Given the description of an element on the screen output the (x, y) to click on. 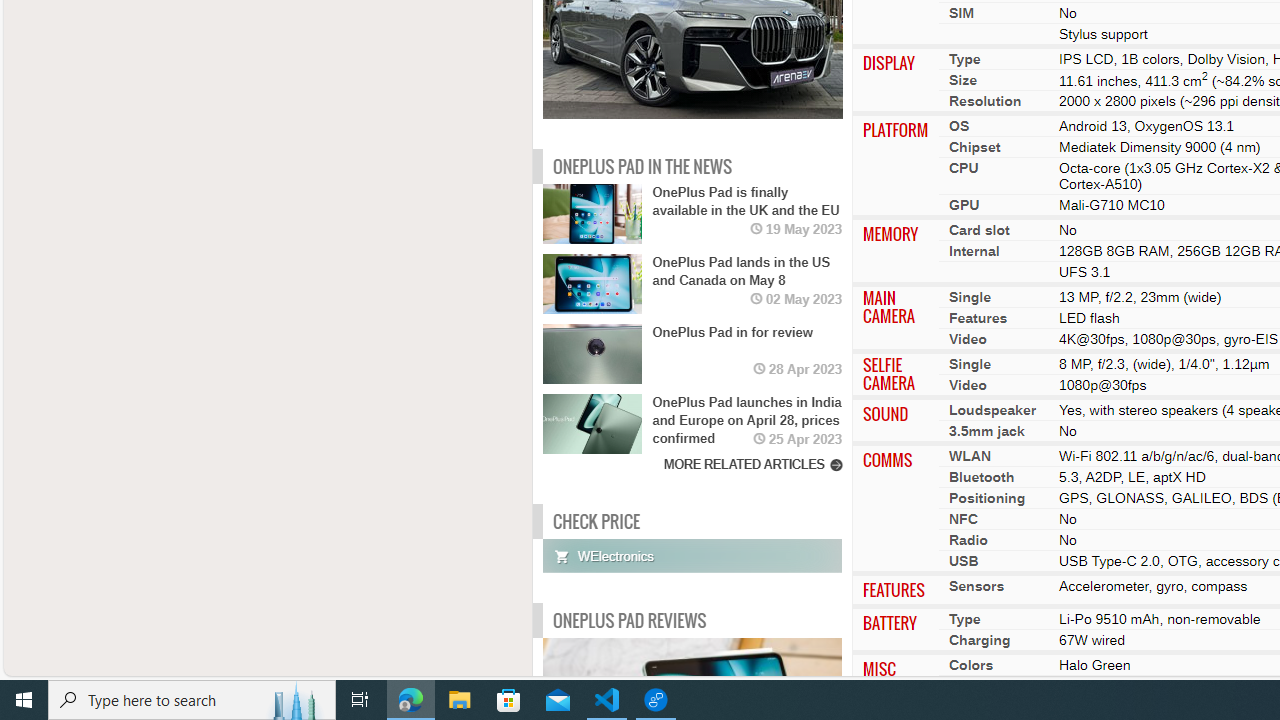
Internal (973, 251)
OS (959, 126)
NFC (962, 519)
Card slot (978, 230)
Bluetooth (981, 477)
CPU (963, 168)
SIM (961, 12)
Charging (979, 640)
USB (963, 561)
Single (970, 363)
